Given the description of an element on the screen output the (x, y) to click on. 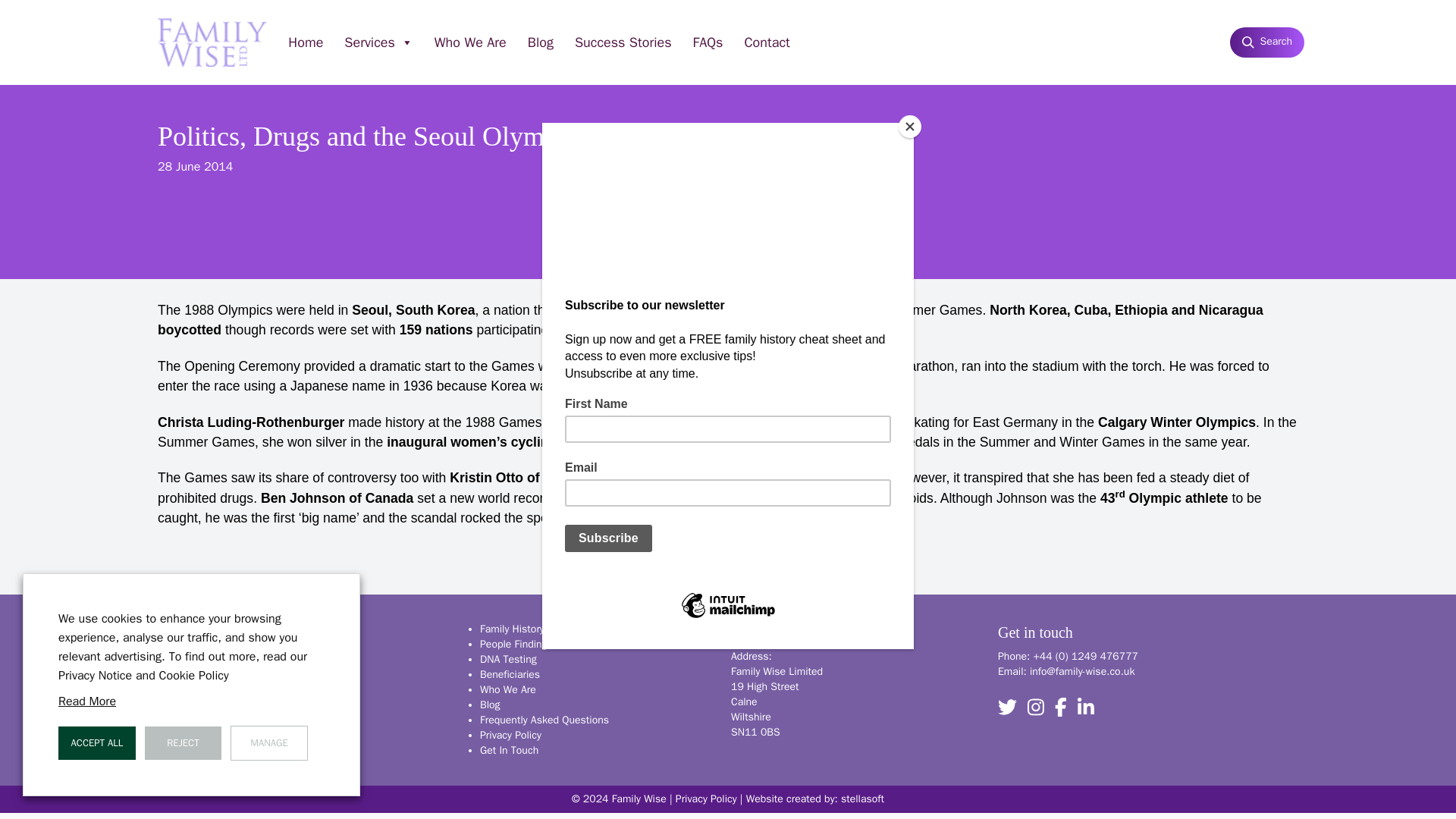
Read More (87, 701)
Home (305, 42)
Blog (490, 704)
DNA Testing (508, 658)
Who We Are (507, 689)
People Finding (513, 644)
Frequently Asked Questions (544, 719)
Beneficiaries (510, 674)
Contact (766, 42)
Family History Research (535, 628)
